Given the description of an element on the screen output the (x, y) to click on. 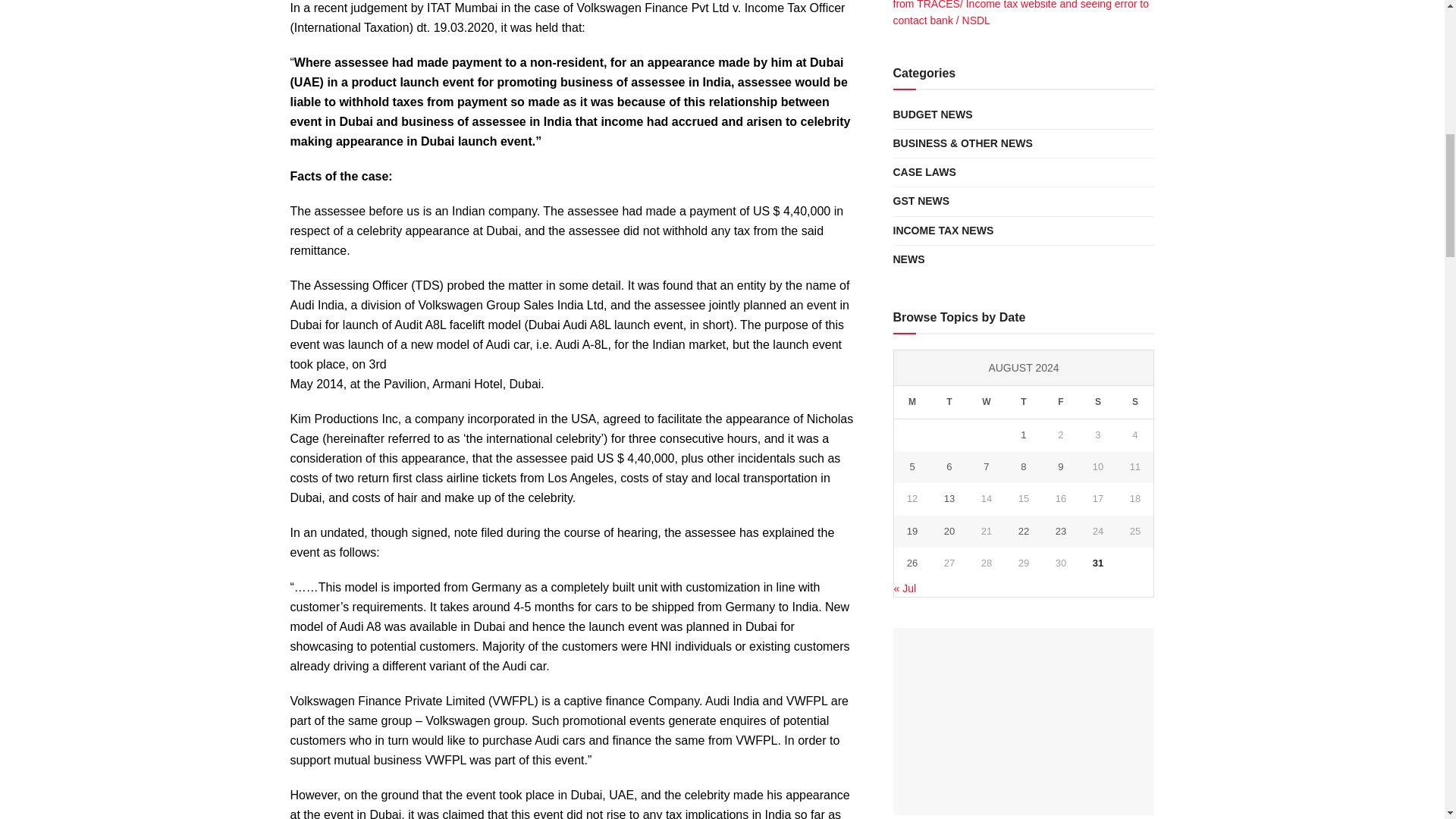
Wednesday (986, 401)
Sunday (1134, 401)
Friday (1060, 401)
Monday (911, 401)
Thursday (1023, 401)
Saturday (1097, 401)
Tuesday (949, 401)
